Given the description of an element on the screen output the (x, y) to click on. 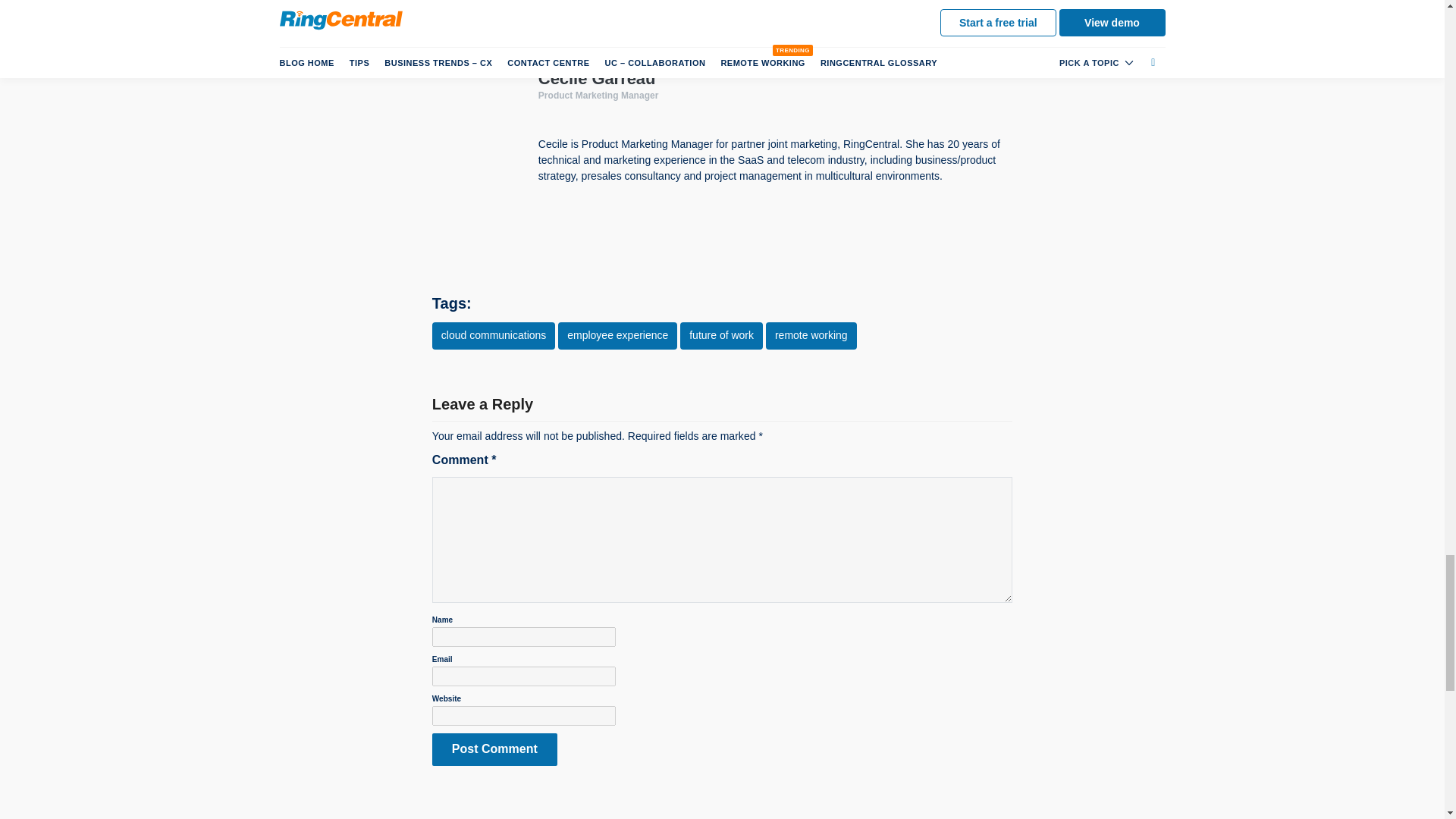
cloud communications (494, 335)
employee experience (617, 335)
remote working (811, 335)
Post Comment (494, 749)
future of work (720, 335)
Cecile Garreau (597, 77)
